Given the description of an element on the screen output the (x, y) to click on. 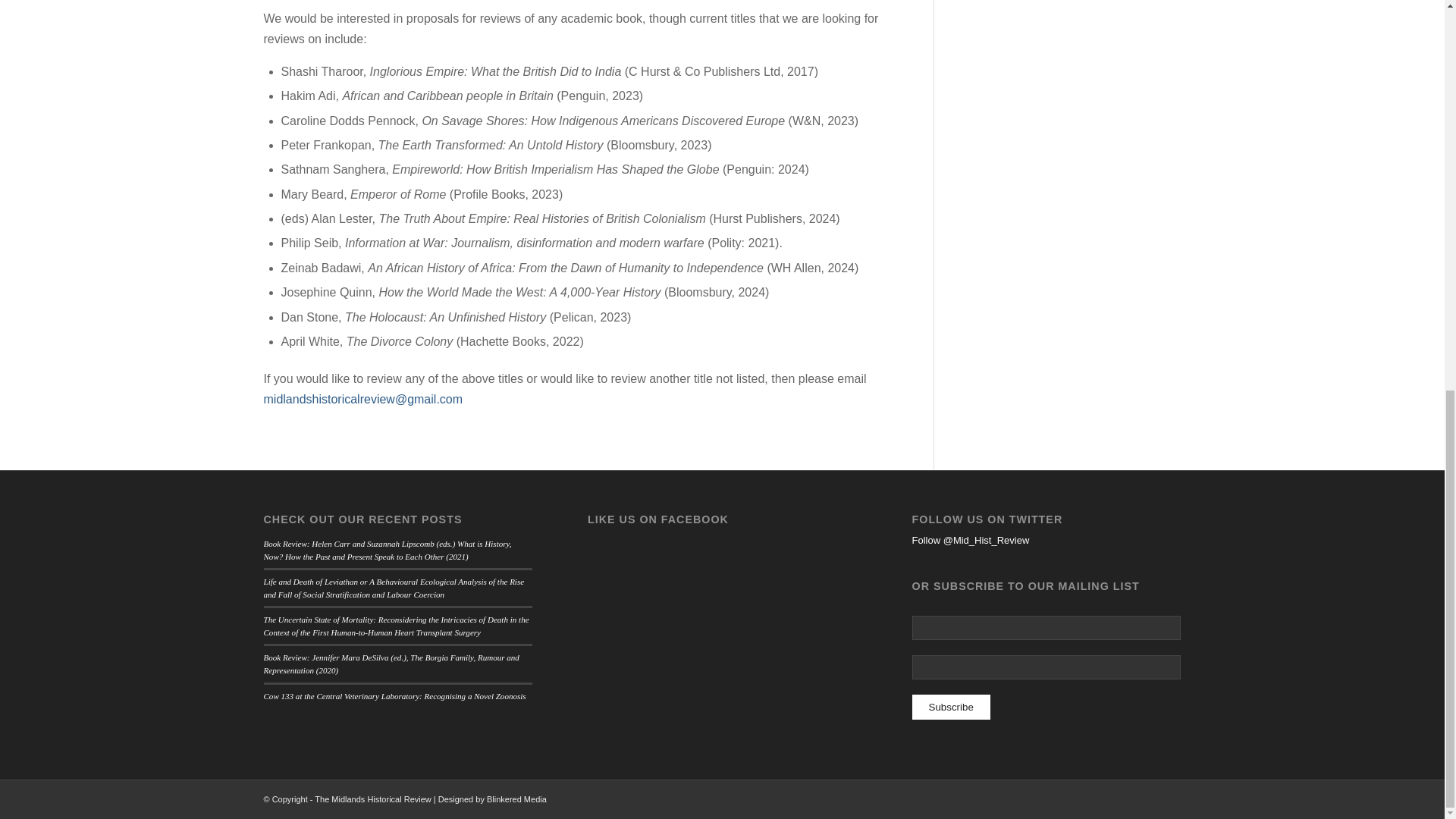
Subscribe (951, 706)
Subscribe (951, 706)
